Given the description of an element on the screen output the (x, y) to click on. 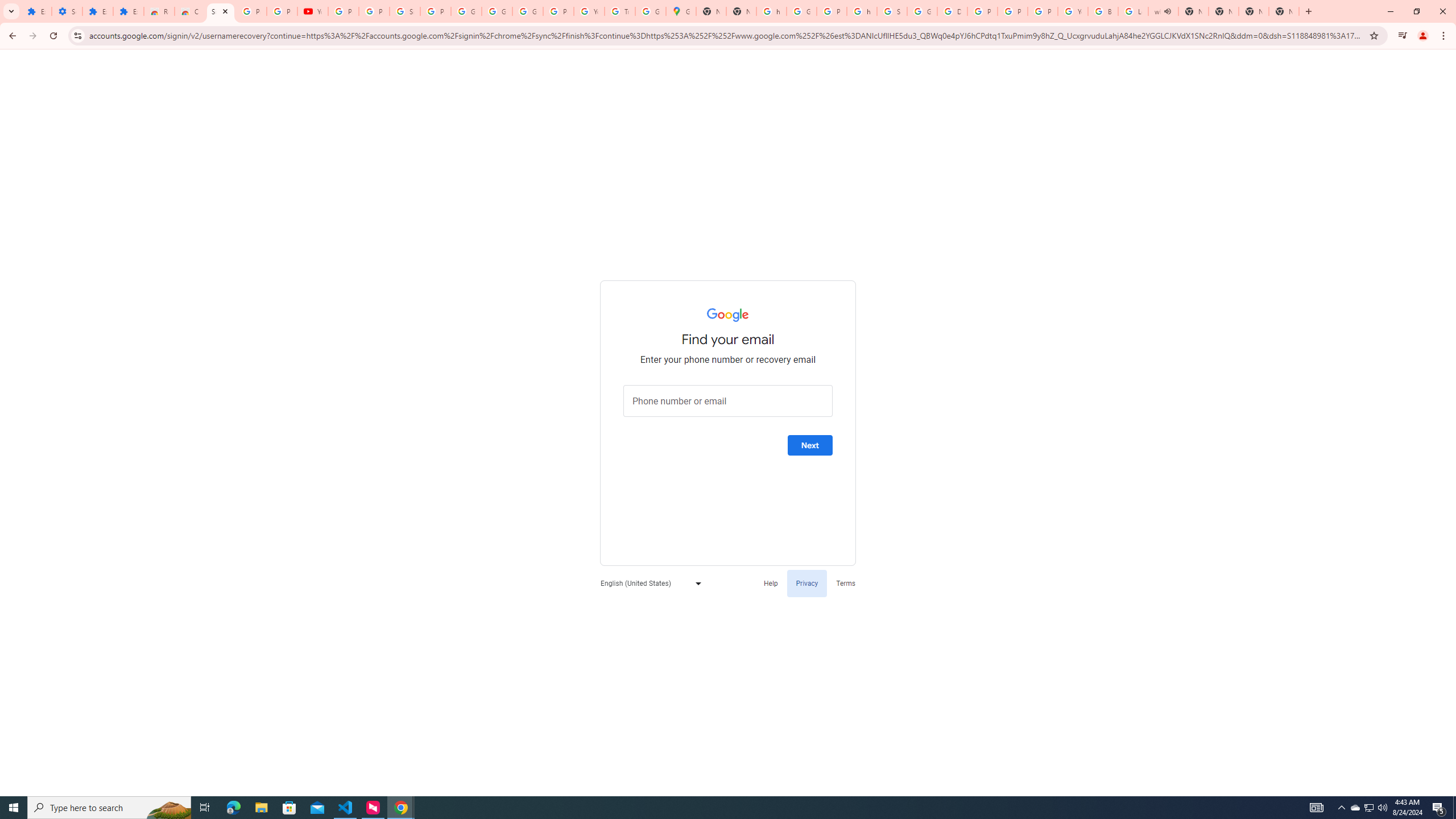
Extensions (97, 11)
Google Maps (681, 11)
Extensions (36, 11)
Google Account (465, 11)
YouTube (1072, 11)
https://scholar.google.com/ (861, 11)
